Given the description of an element on the screen output the (x, y) to click on. 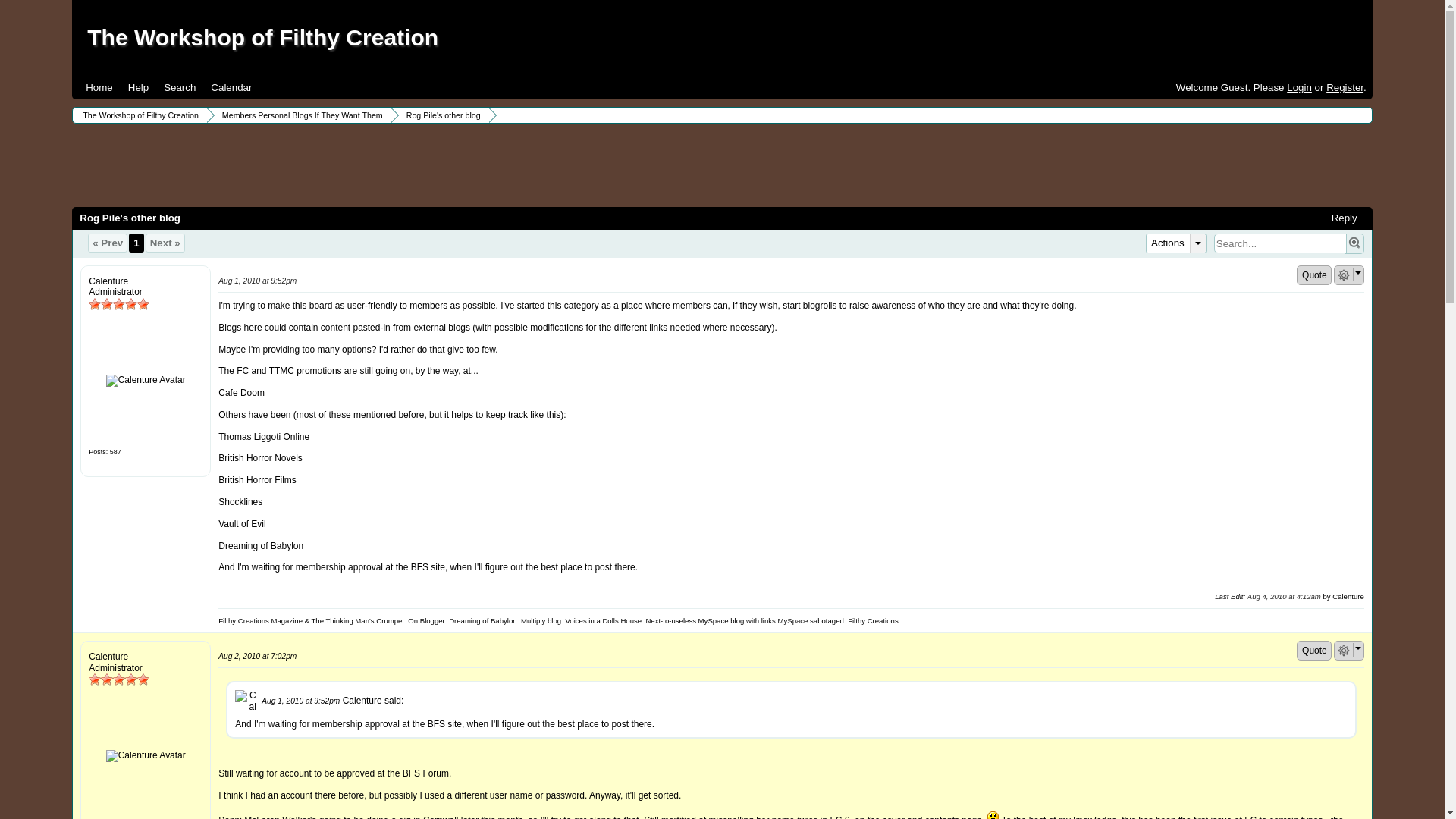
Search (179, 87)
Calendar (231, 87)
Help (137, 87)
Calenture (145, 380)
Login (1299, 87)
Post Options (1343, 650)
Rog Pile's other blog (440, 114)
Members Personal Blogs If They Want Them (300, 114)
Post Options (1343, 275)
